Given the description of an element on the screen output the (x, y) to click on. 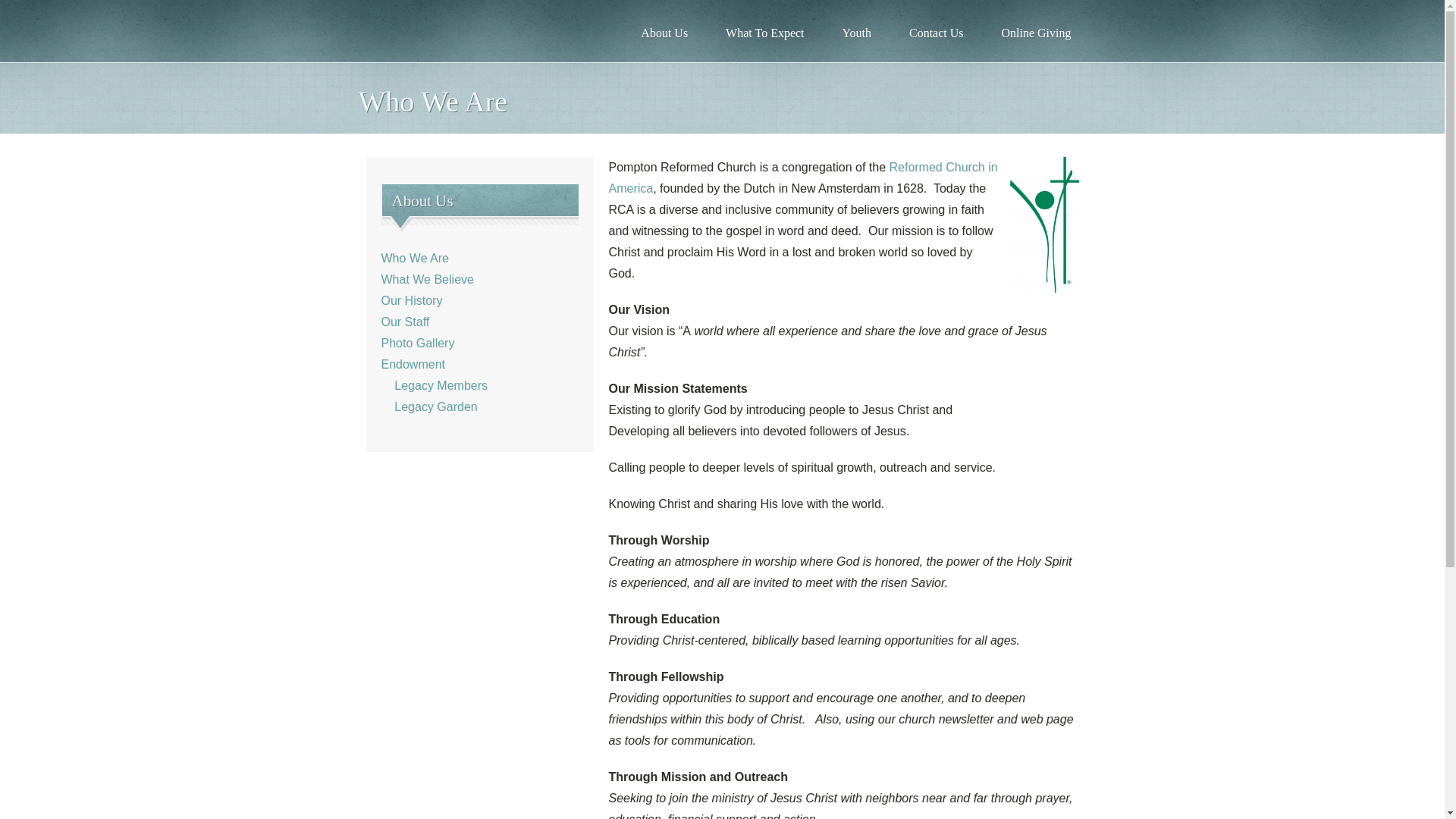
Endowment (412, 364)
Who We Are (414, 257)
Legacy Garden (428, 406)
PRC History (411, 300)
Our Staff (404, 321)
What We Believe (426, 278)
    Legacy Garden (428, 406)
Photo Gallery (417, 342)
Contact Us (935, 33)
